Given the description of an element on the screen output the (x, y) to click on. 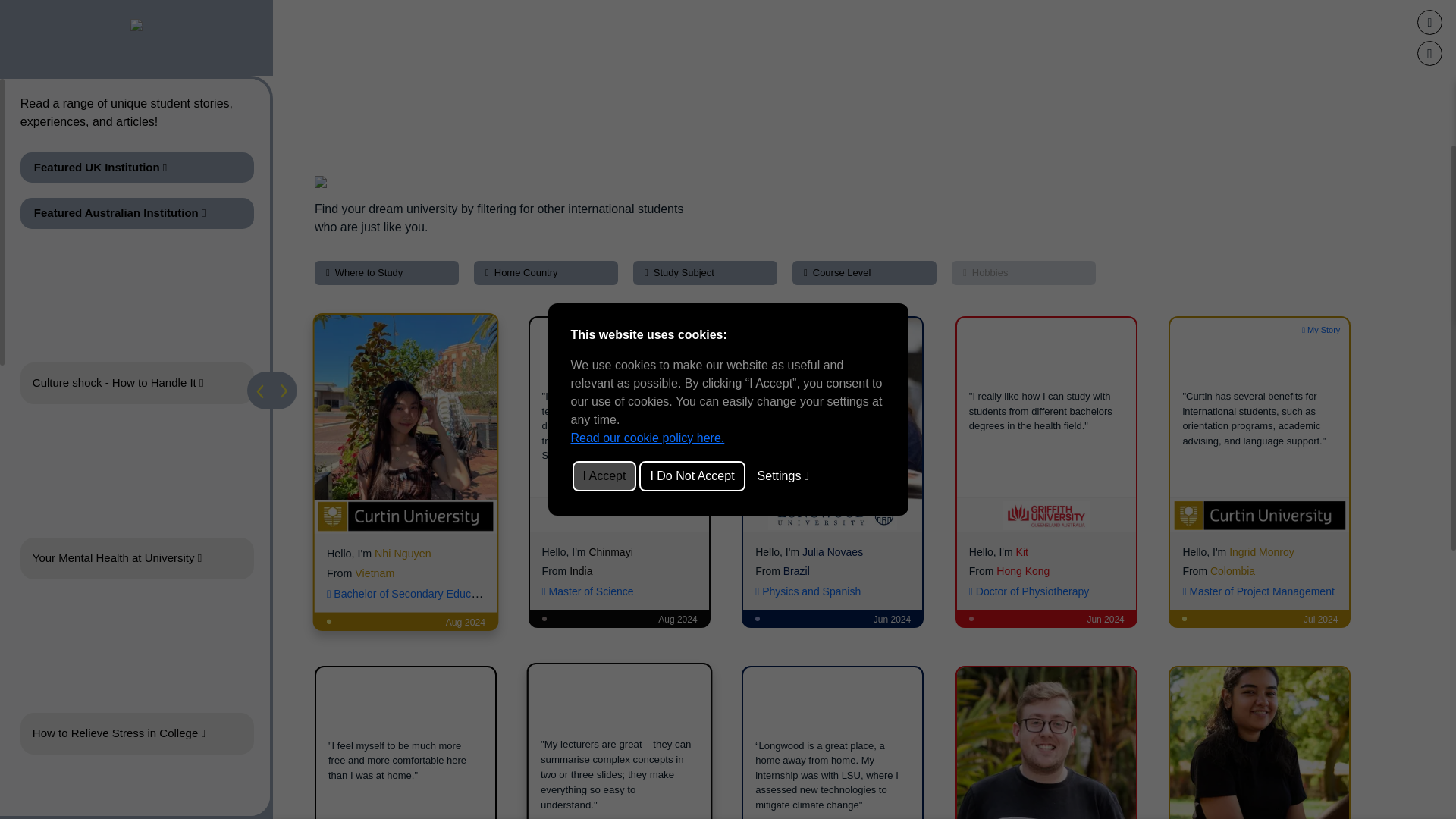
Settings (783, 475)
Reject All (691, 475)
Accept All (604, 475)
